Given the description of an element on the screen output the (x, y) to click on. 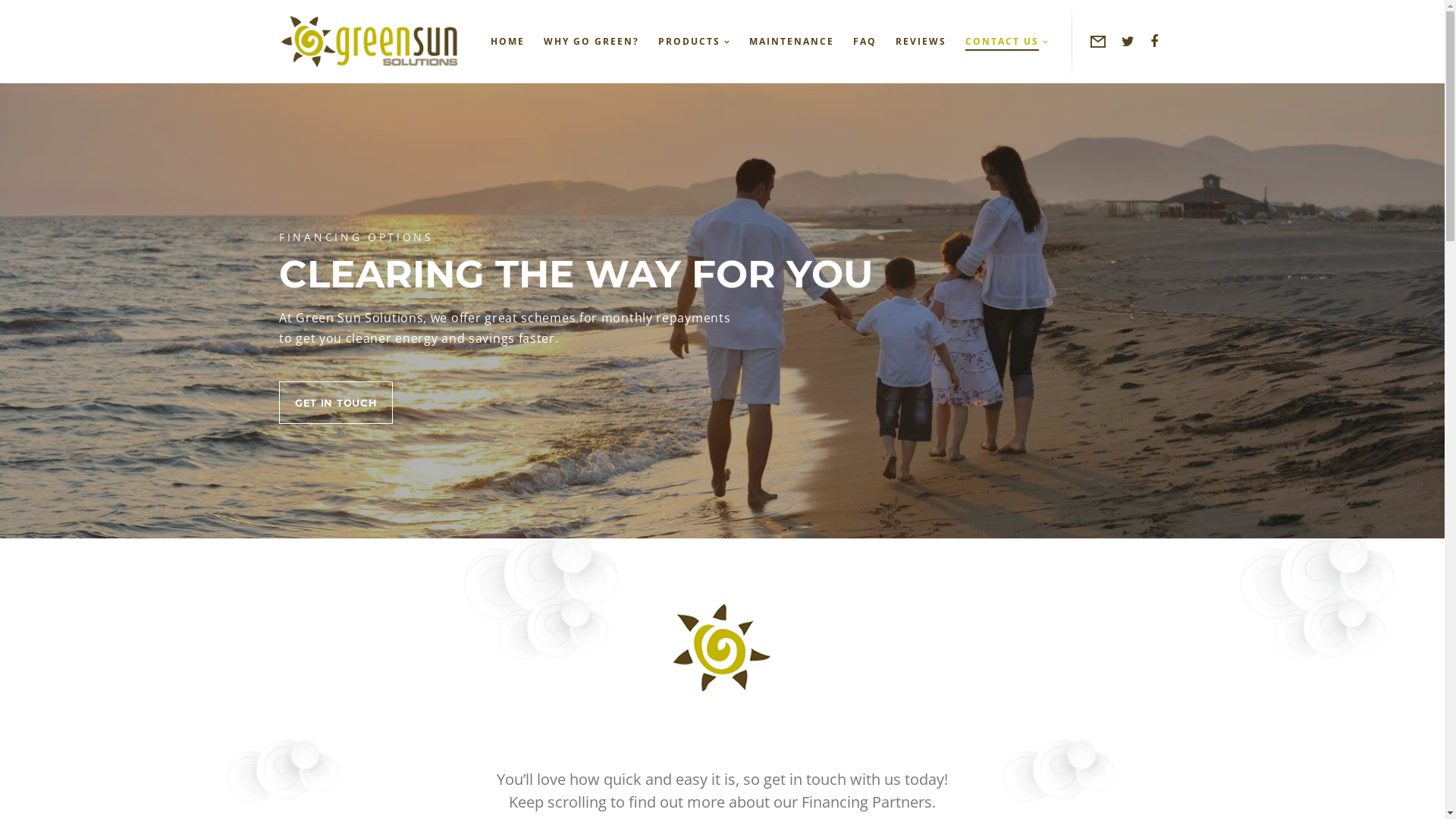
MAINTENANCE Element type: text (782, 41)
PRODUCTS Element type: text (684, 41)
FAQ Element type: text (855, 41)
WHY GO GREEN? Element type: text (581, 41)
HOME Element type: text (497, 41)
REVIEWS Element type: text (911, 41)
GET IN TOUCH Element type: text (335, 402)
CONTACT US Element type: text (997, 41)
